Given the description of an element on the screen output the (x, y) to click on. 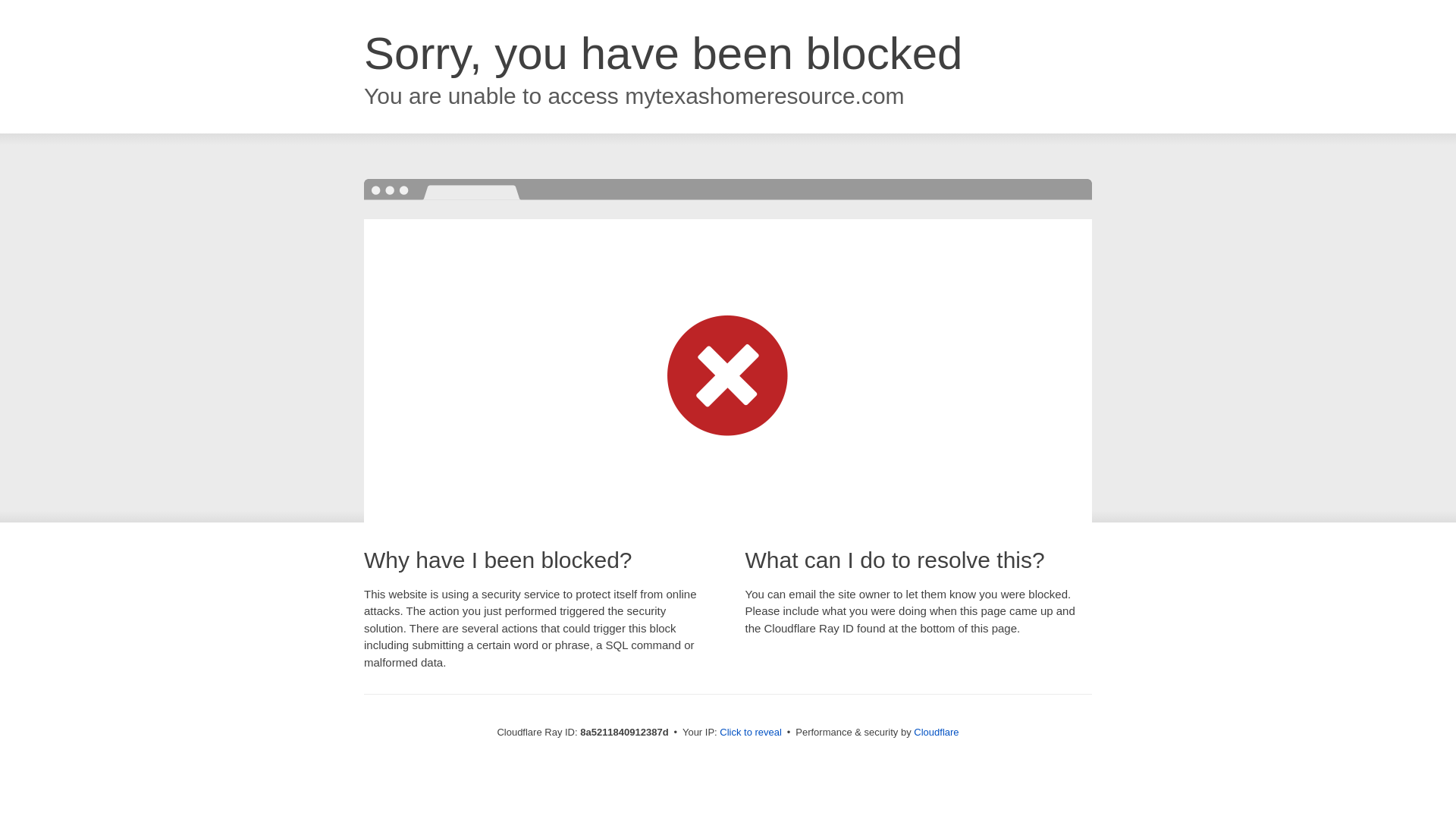
Click to reveal (750, 732)
Cloudflare (936, 731)
